Given the description of an element on the screen output the (x, y) to click on. 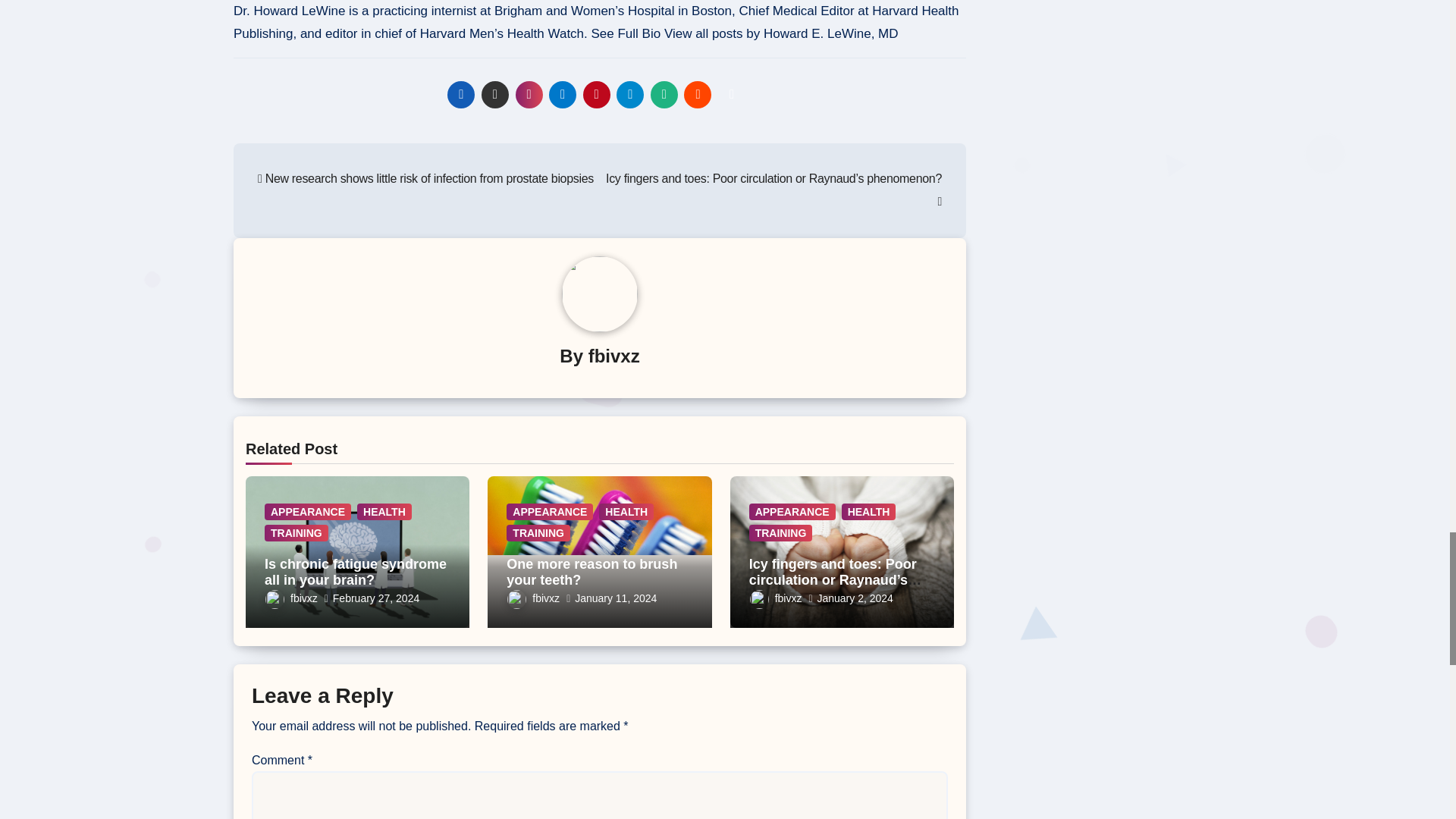
fbivxz (614, 355)
Permalink to: One more reason to brush your teeth? (591, 572)
Permalink to: Is chronic fatigue syndrome all in your brain? (355, 572)
